Given the description of an element on the screen output the (x, y) to click on. 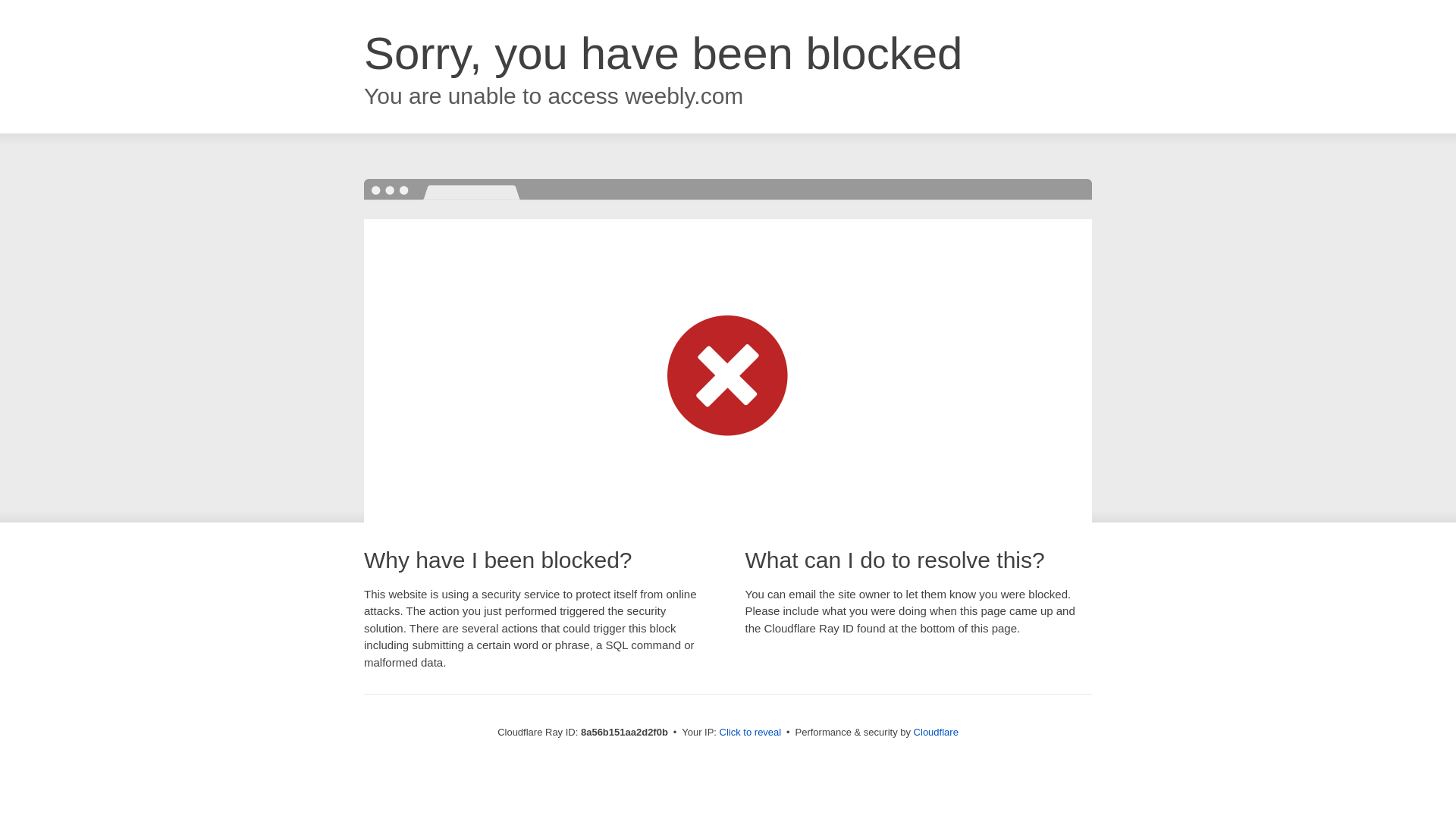
Click to reveal (750, 732)
Cloudflare (936, 731)
